Given the description of an element on the screen output the (x, y) to click on. 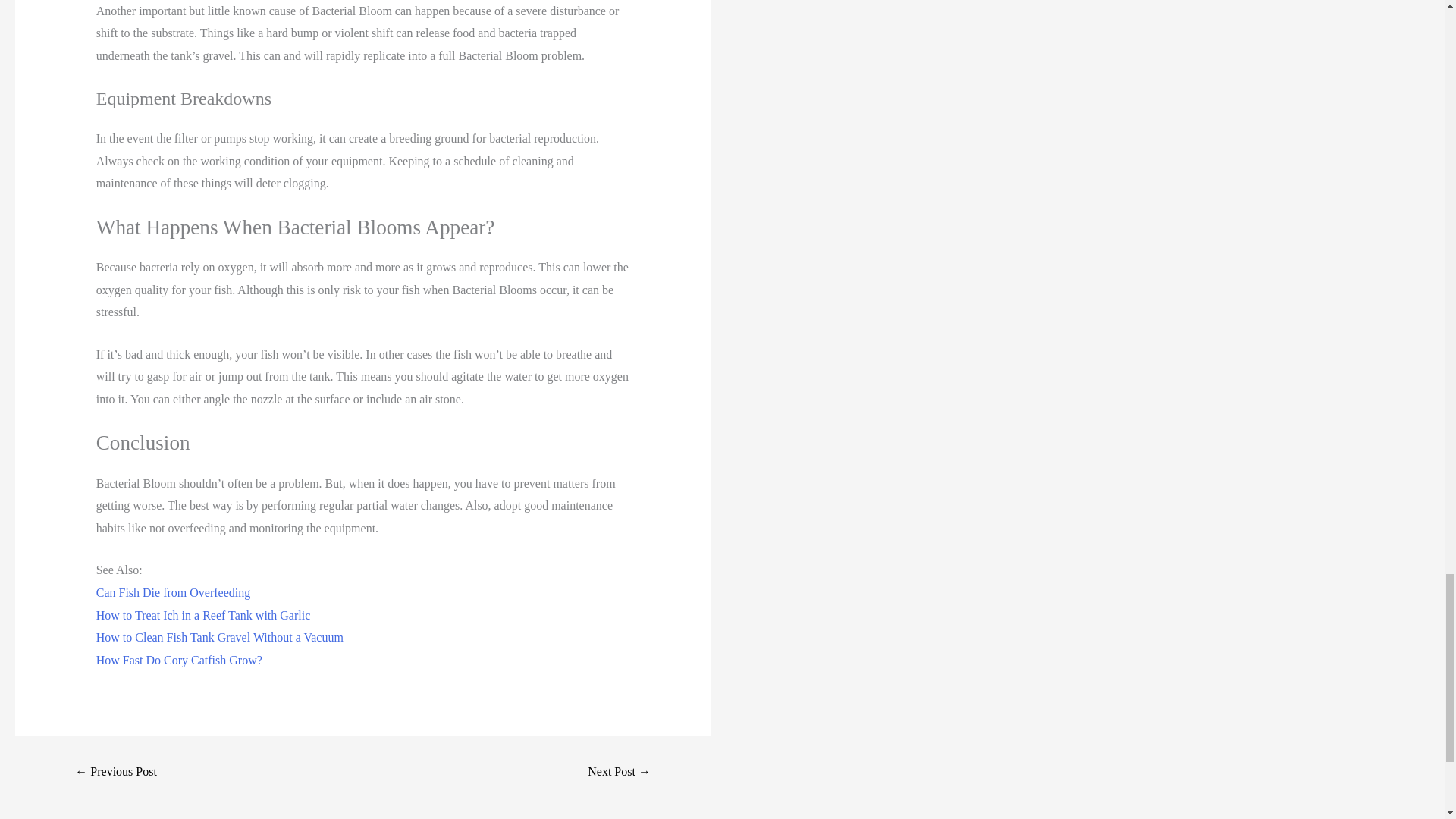
How to Treat Ich in a Reef Tank with Garlic (203, 615)
How Do You Test Fish Tank Water without a Kit? (115, 771)
Can Fish Die from Overfeeding (173, 592)
How to Clean Fish Tank Gravel Without a Vacuum (219, 636)
How Fast Do Cory Catfish Grow? (179, 659)
How to Raise Phosphate in a Reef Tank (618, 771)
